Given the description of an element on the screen output the (x, y) to click on. 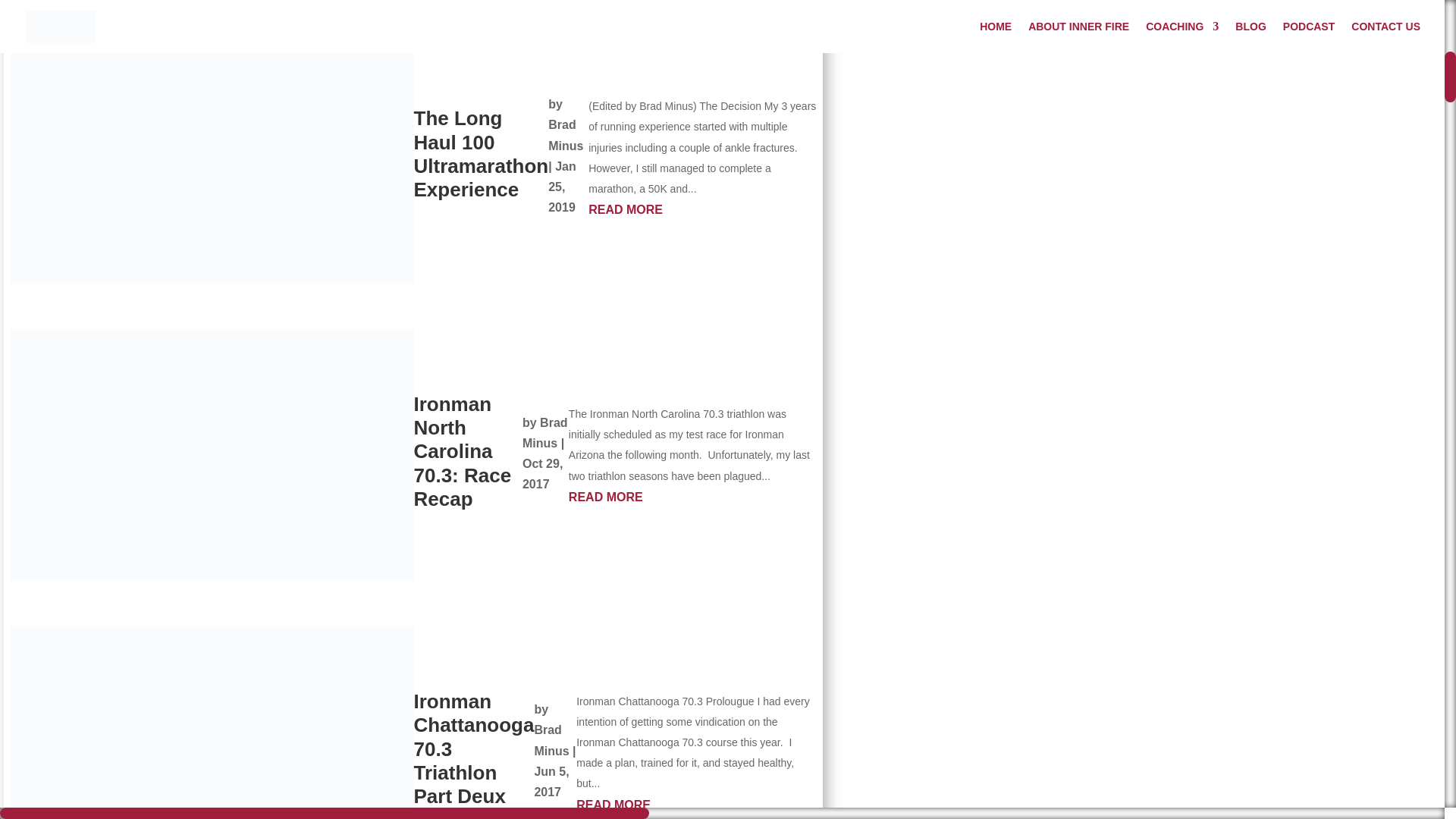
Brad Minus (565, 134)
The Long Haul 100 Ultramarathon Experience (480, 153)
Posts by Brad Minus (544, 432)
Ironman Chattanooga 70.3 Triathlon Part Deux (473, 748)
Brad Minus (544, 432)
Posts by Brad Minus (565, 134)
Brad Minus (551, 739)
READ MORE (702, 209)
Posts by Brad Minus (551, 739)
READ MORE (696, 804)
